Given the description of an element on the screen output the (x, y) to click on. 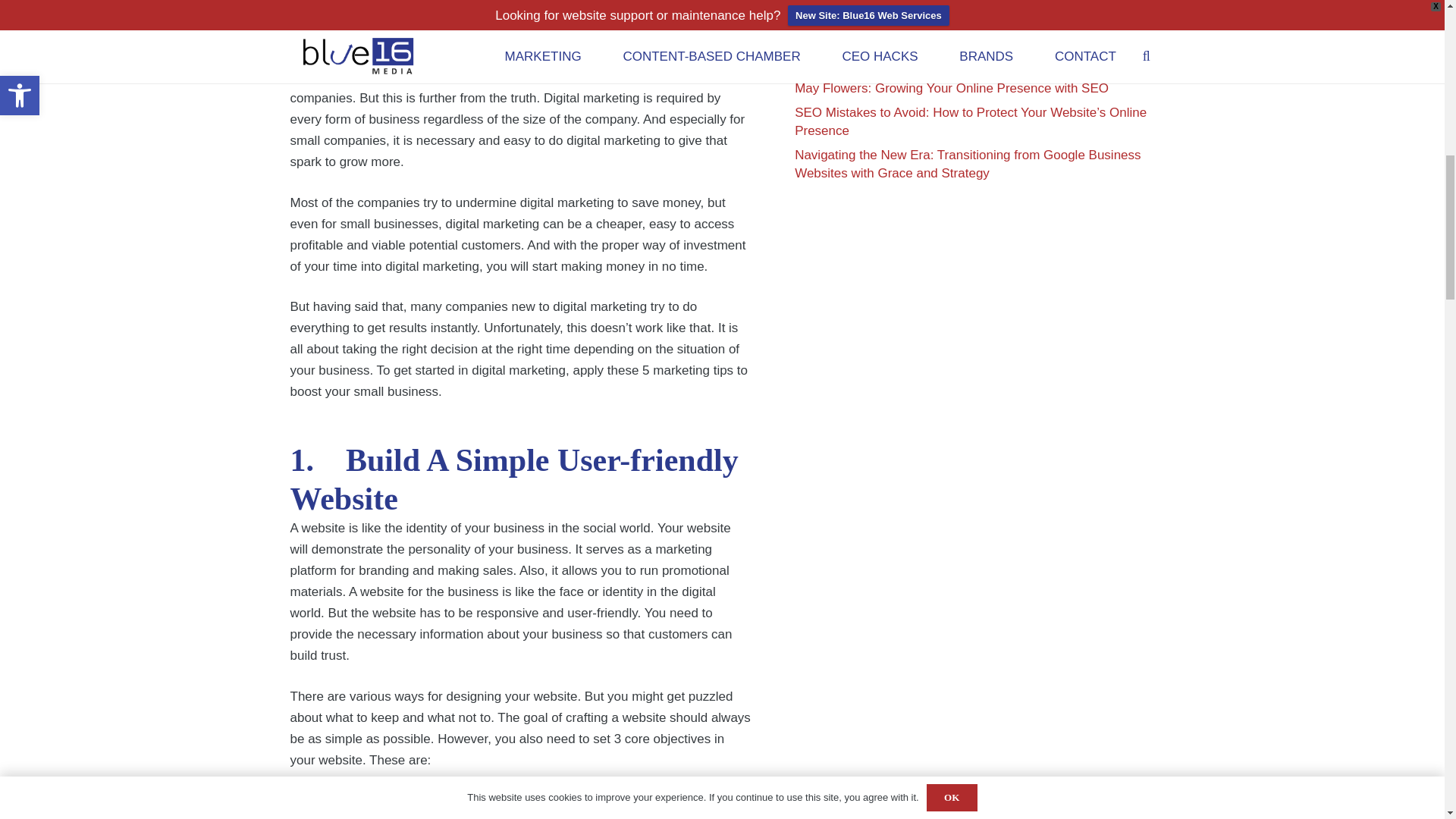
Back to top (1413, 26)
